Given the description of an element on the screen output the (x, y) to click on. 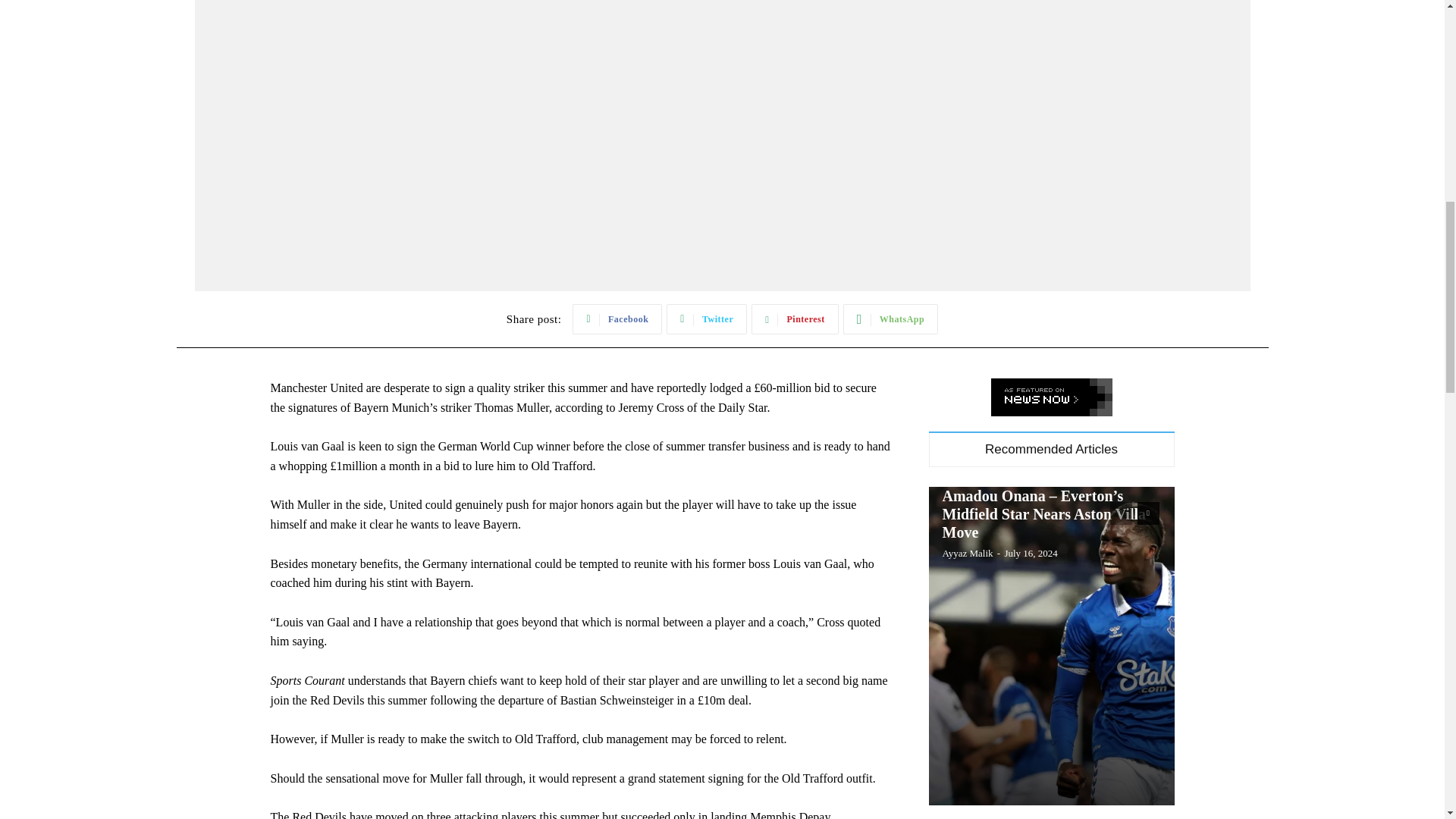
Twitter (706, 318)
Twitter (706, 318)
Pinterest (794, 318)
Facebook (617, 318)
WhatsApp (890, 318)
Pinterest (794, 318)
Facebook (617, 318)
WhatsApp (890, 318)
